Given the description of an element on the screen output the (x, y) to click on. 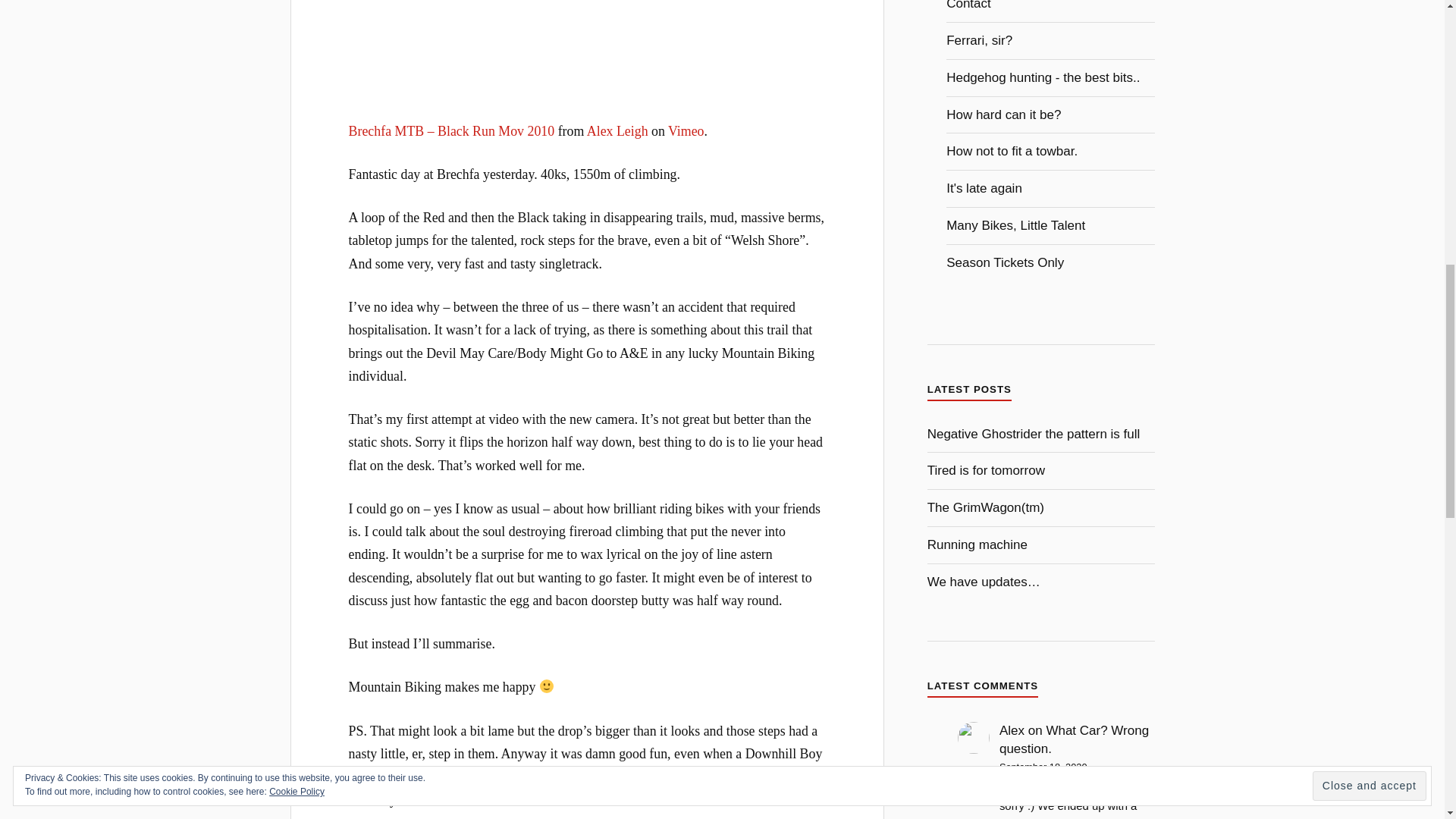
How not to fit a towbar. (1011, 151)
Hedgehog hunting - the best bits.. (1043, 77)
Negative Ghostrider the pattern is full (1033, 433)
Season Tickets Only (1005, 262)
Vimeo (686, 130)
Tired is for tomorrow (986, 470)
How hard can it be? (1003, 114)
It's late again (984, 187)
Contact (968, 5)
Many Bikes, Little Talent (1015, 225)
Ferrari, sir? (978, 40)
Alex Leigh (616, 130)
